Given the description of an element on the screen output the (x, y) to click on. 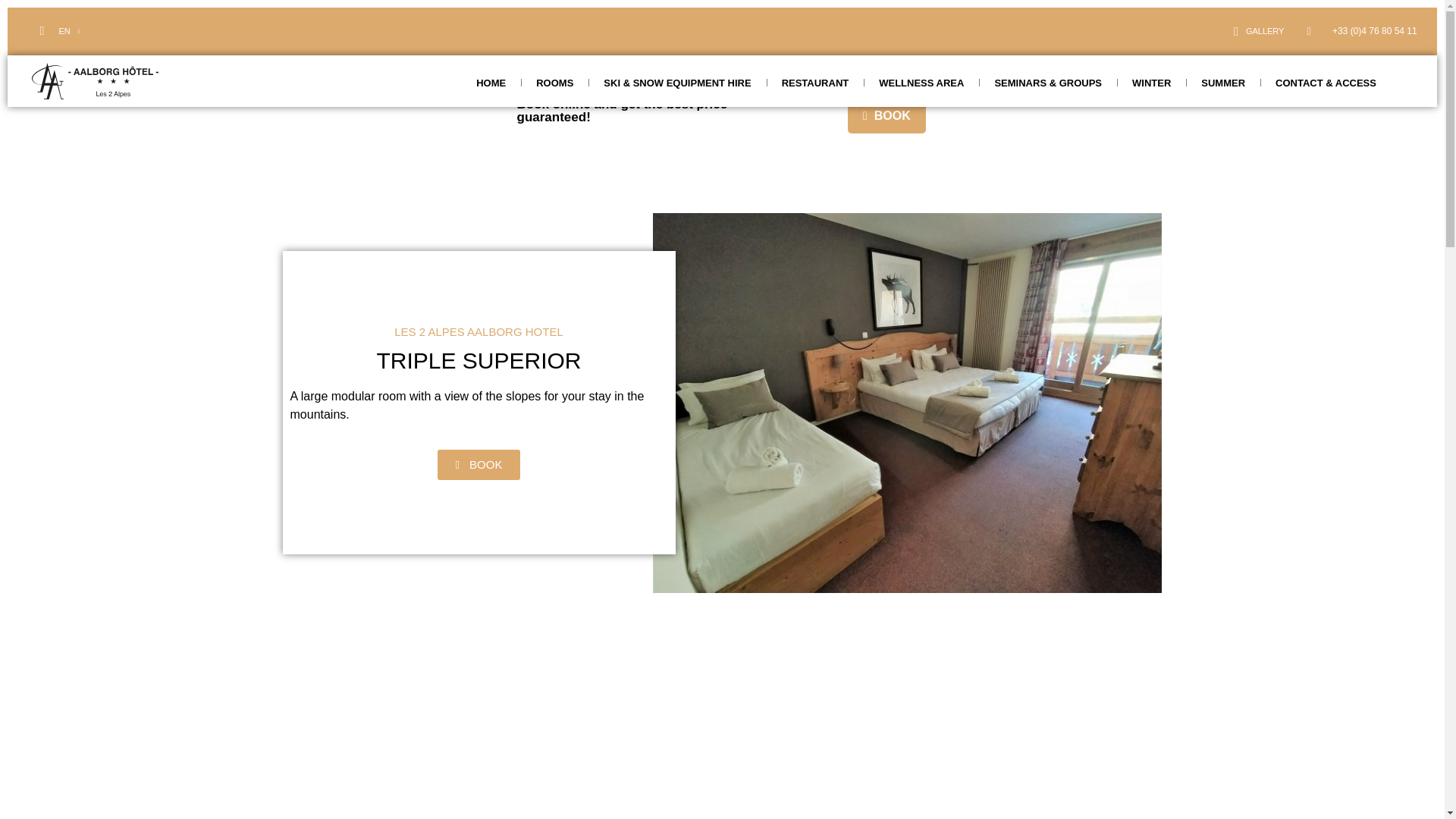
WINTER (1151, 82)
WELLNESS AREA (920, 82)
RESTAURANT (815, 82)
EN (69, 31)
SUMMER (1223, 82)
ROOMS (554, 82)
HOME (491, 82)
GALLERY (1258, 31)
